Given the description of an element on the screen output the (x, y) to click on. 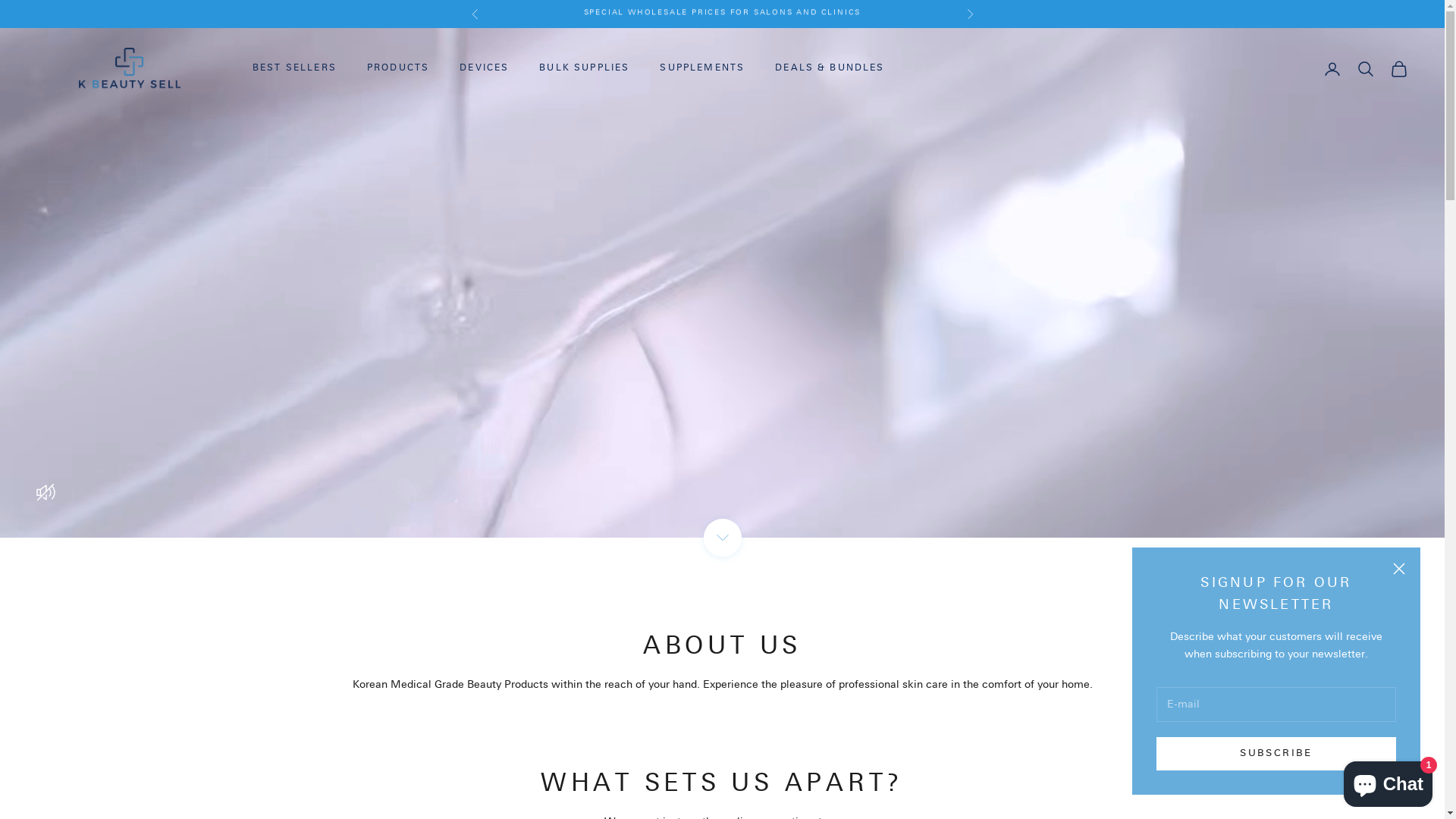
Open cart Element type: text (1399, 68)
Shopify online store chat Element type: hover (1388, 780)
Previous Element type: text (474, 13)
DEALS & BUNDLES Element type: text (829, 67)
SUPPLEMENTS Element type: text (701, 67)
SUBSCRIBE Element type: text (1276, 753)
Next Element type: text (968, 13)
Close Element type: text (1399, 568)
Unmute video Element type: text (45, 492)
BEST SELLERS Element type: text (294, 67)
K Beauty Sell Element type: text (129, 68)
Open account page Element type: text (1332, 68)
Open search Element type: text (1365, 68)
Navigate to next section Element type: text (722, 537)
